Given the description of an element on the screen output the (x, y) to click on. 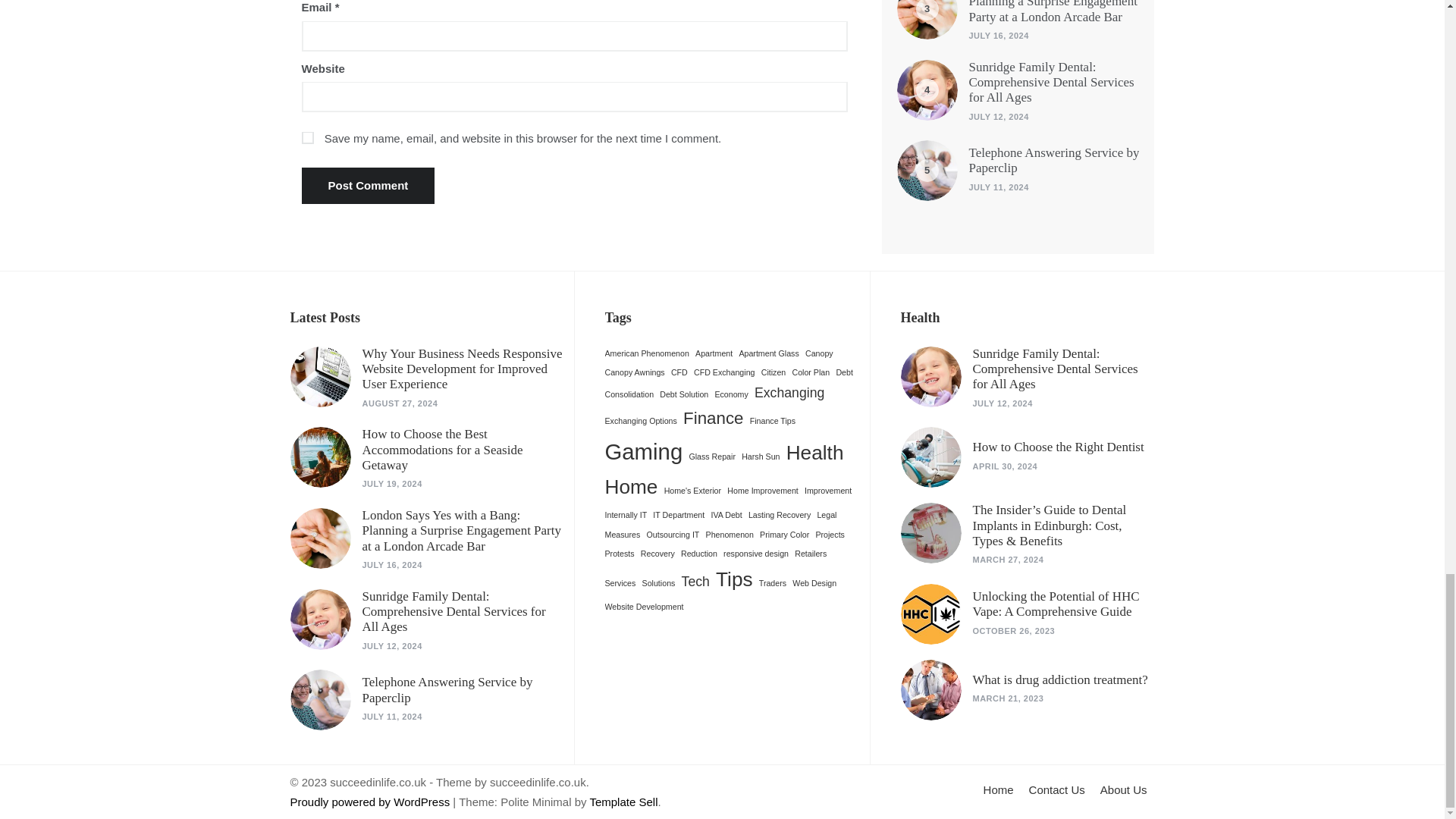
yes (307, 137)
Post Comment (368, 185)
Post Comment (368, 185)
